Given the description of an element on the screen output the (x, y) to click on. 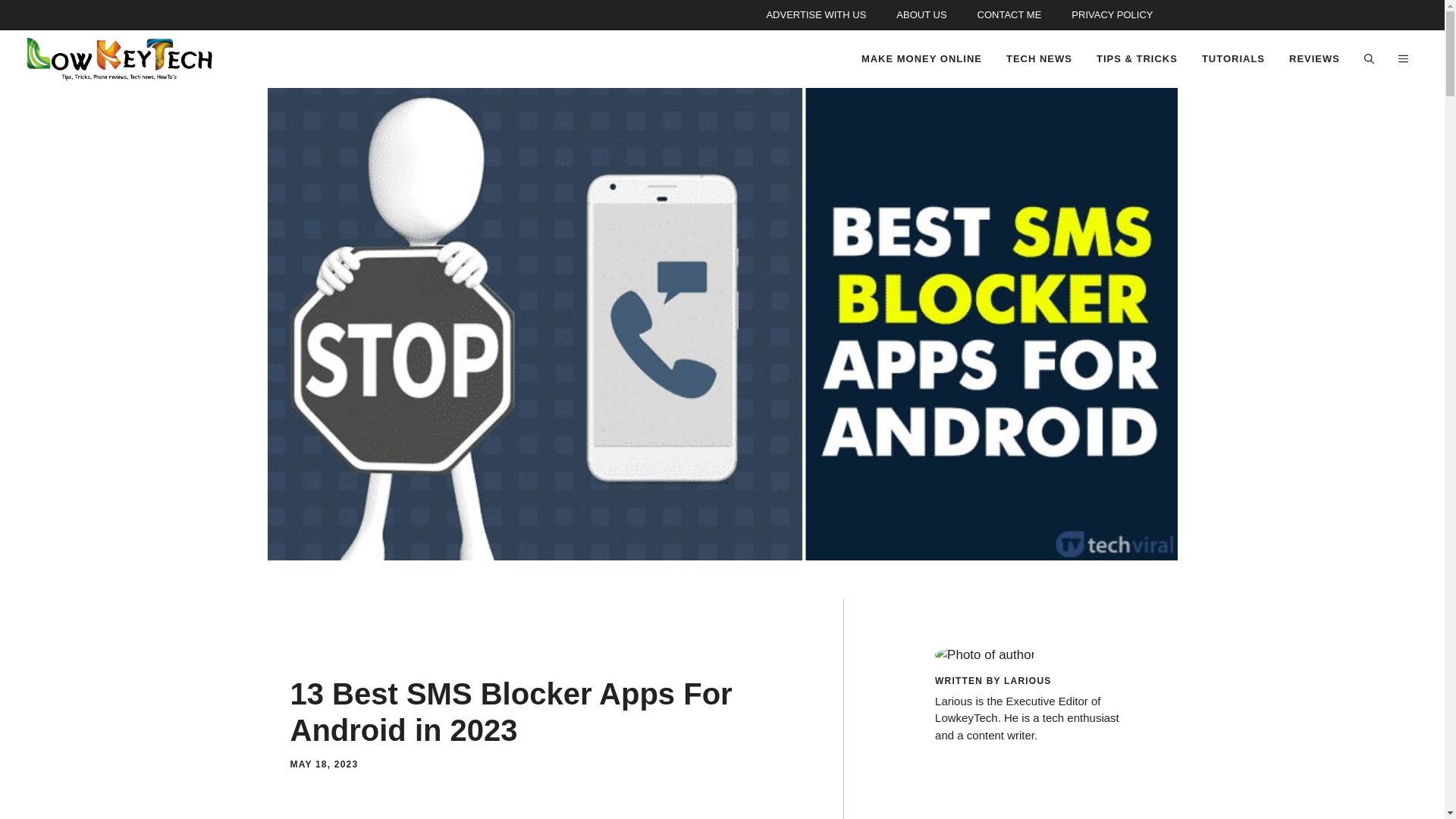
advert placement (815, 15)
CONTACT ME (1009, 15)
TECH NEWS (1039, 58)
ADVERTISE WITH US (815, 15)
Our privacy policy (1112, 15)
MAKE MONEY ONLINE (921, 58)
TUTORIALS (1232, 58)
PRIVACY POLICY (1112, 15)
ABOUT US (920, 15)
REVIEWS (1314, 58)
About the site and author (920, 15)
